Given the description of an element on the screen output the (x, y) to click on. 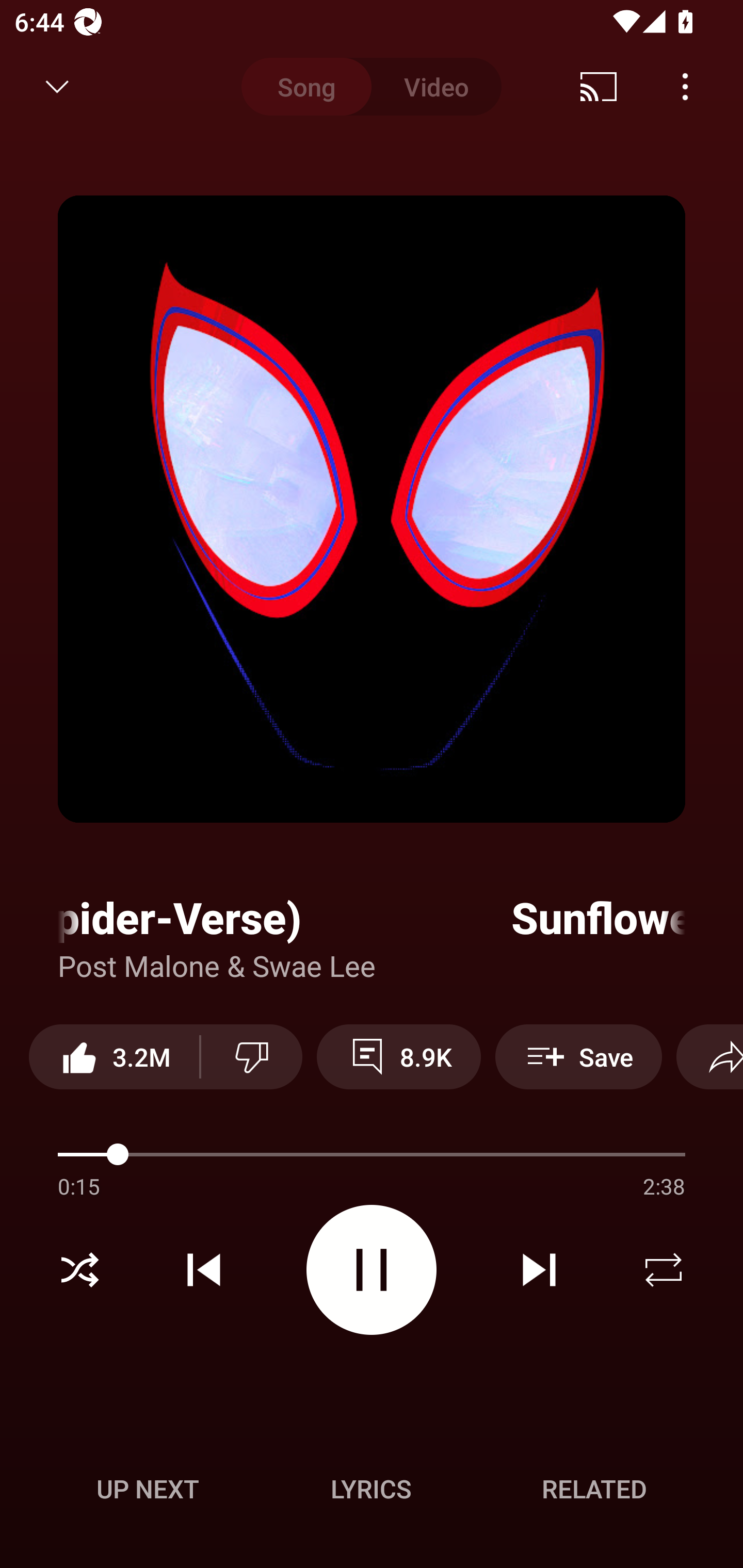
Minimize (57, 86)
Cast. Disconnected (598, 86)
Menu (684, 86)
Dislike (251, 1056)
8.9K View 8,905 comments (398, 1056)
Save Save to playlist (578, 1056)
Share (709, 1056)
Pause video (371, 1269)
Shuffle on (79, 1269)
Previous track (203, 1269)
Next track (538, 1269)
Repeat off (663, 1269)
Up next UP NEXT Lyrics LYRICS Related RELATED (371, 1491)
Lyrics LYRICS (370, 1488)
Related RELATED (594, 1488)
